Given the description of an element on the screen output the (x, y) to click on. 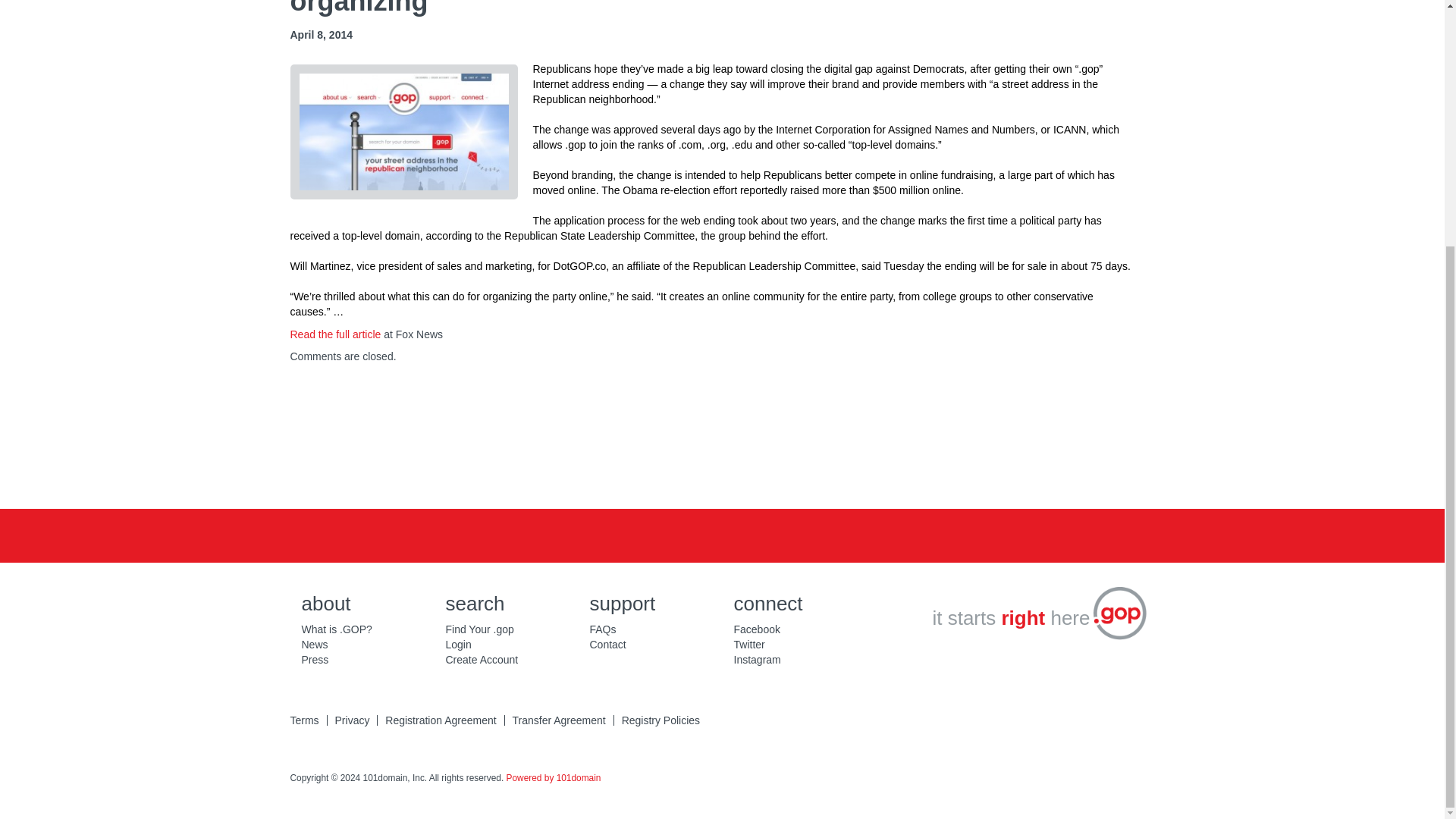
Registration Agreement (440, 720)
Terms (303, 720)
Login (458, 644)
Read the full article (334, 334)
Twitter (722, 440)
Create Account (481, 659)
Contact (607, 644)
Privacy (351, 720)
What is .GOP? (336, 629)
